Given the description of an element on the screen output the (x, y) to click on. 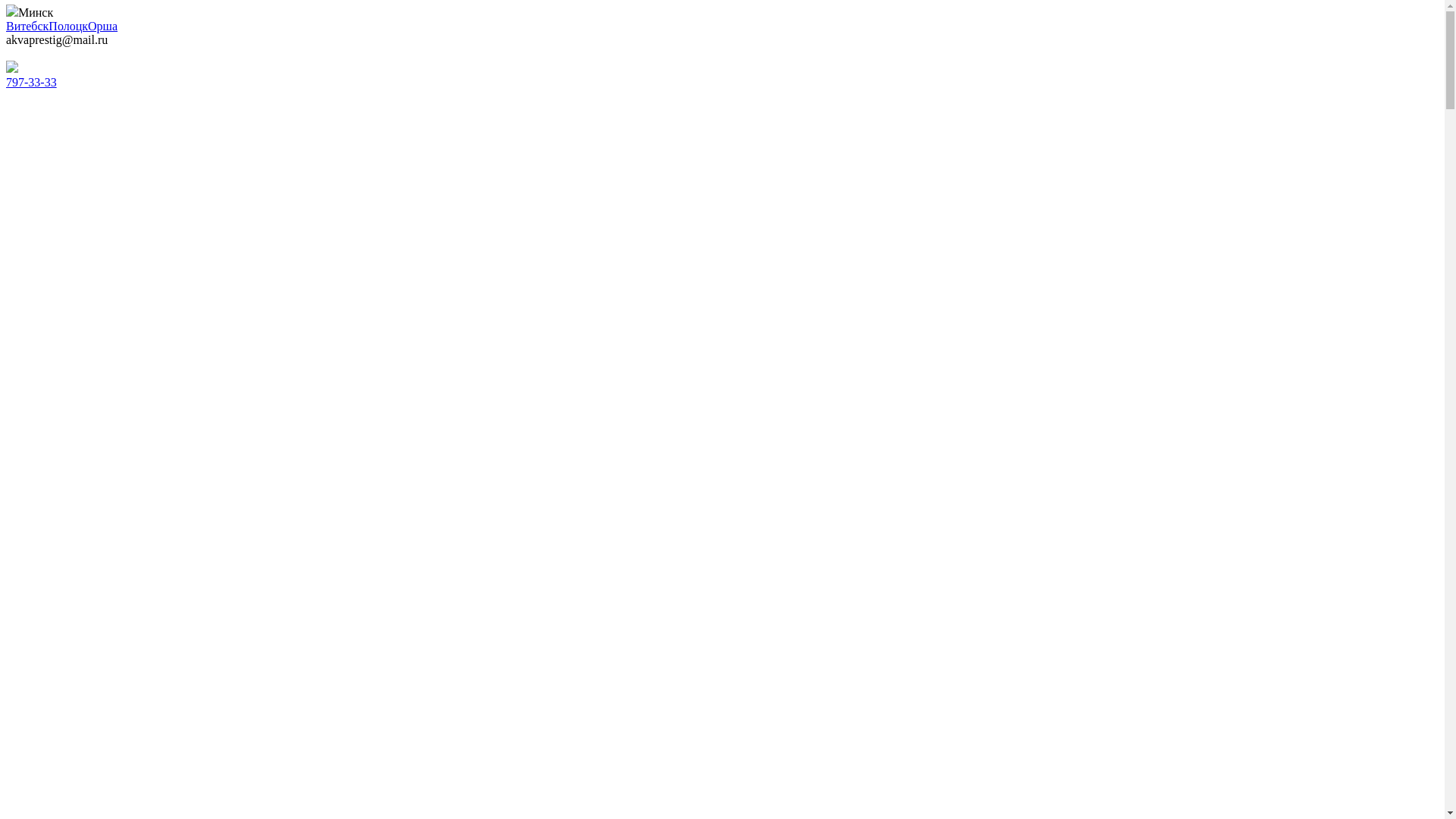
797-33-33 Element type: text (31, 81)
akvaprestig@mail.ru Element type: text (56, 39)
